Given the description of an element on the screen output the (x, y) to click on. 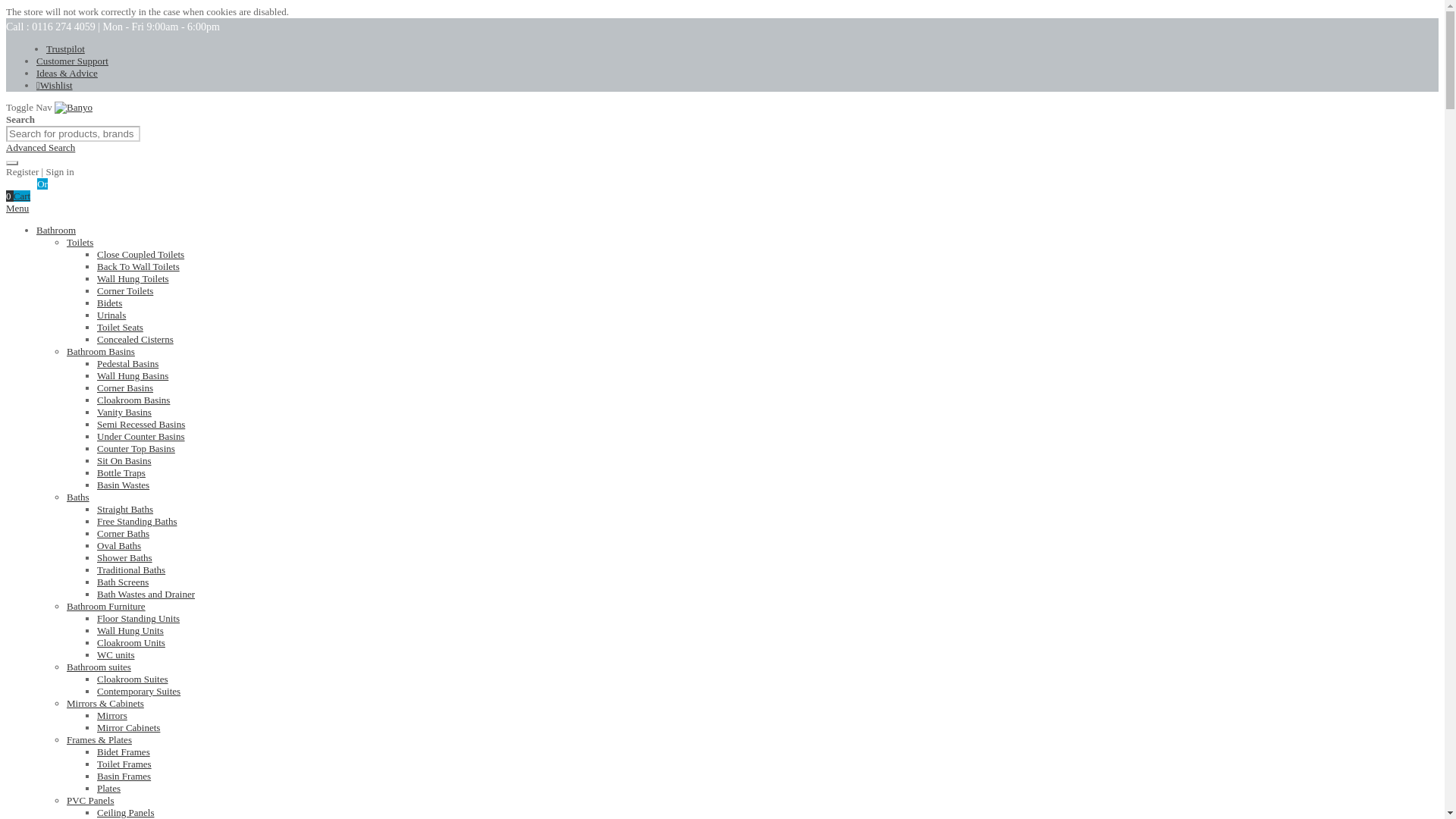
Semi Recessed Basins (140, 423)
Wall Hung Basins (132, 375)
Corner Baths (123, 532)
Baths (77, 496)
Trustpilot (65, 48)
Back To Wall Toilets (138, 266)
Toilets (79, 242)
Close Coupled Toilets (140, 254)
Bottle Traps (121, 472)
Under Counter Basins (140, 436)
